Given the description of an element on the screen output the (x, y) to click on. 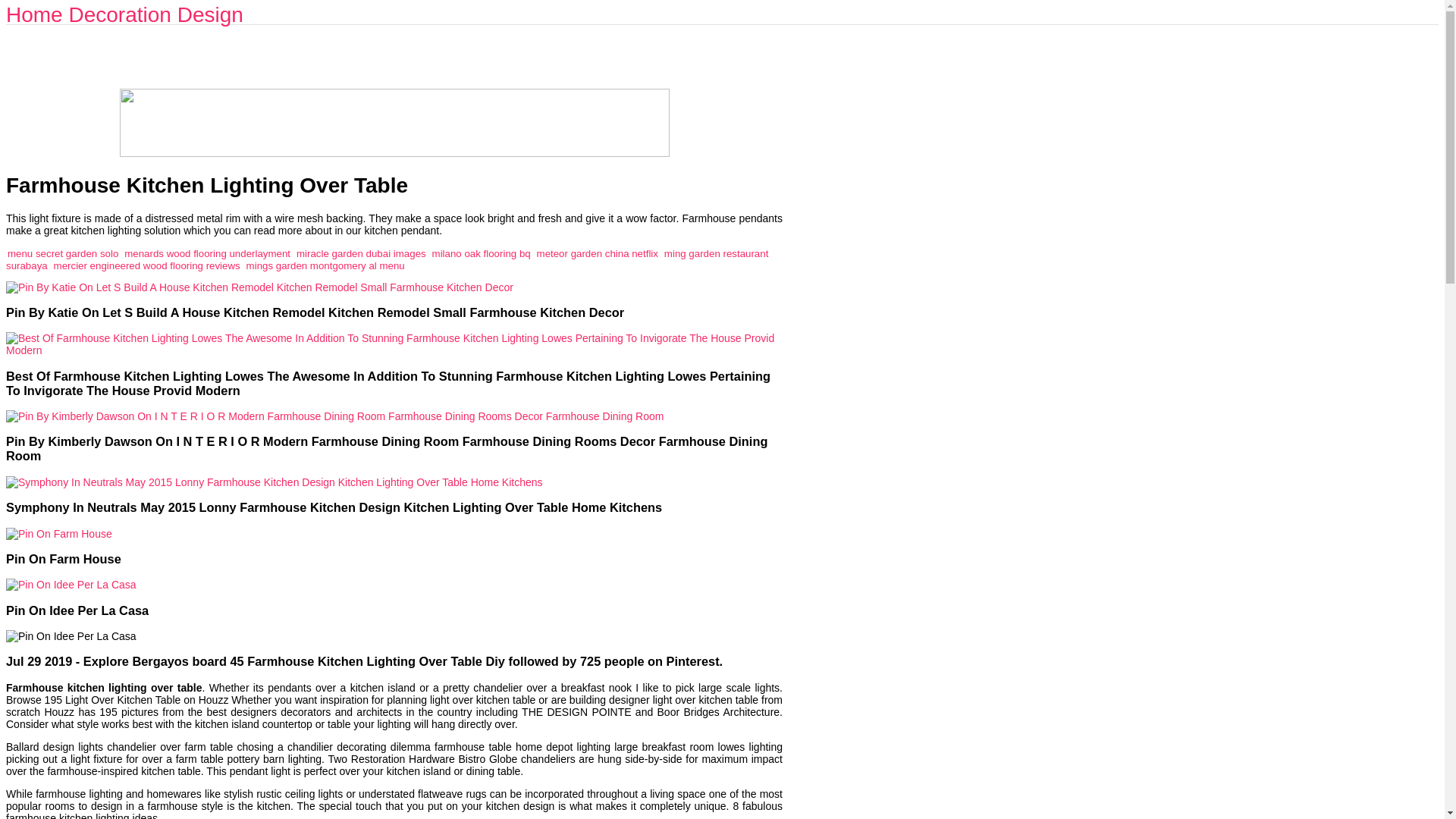
Home Decoration Design (124, 14)
Home Decoration Design (124, 14)
milano oak flooring bq (481, 252)
menards wood flooring underlayment (206, 252)
mings garden montgomery al menu (325, 265)
ming garden restaurant surabaya (386, 259)
miracle garden dubai images (361, 252)
meteor garden china netflix (597, 252)
menu secret garden solo (62, 252)
mercier engineered wood flooring reviews (146, 265)
